Given the description of an element on the screen output the (x, y) to click on. 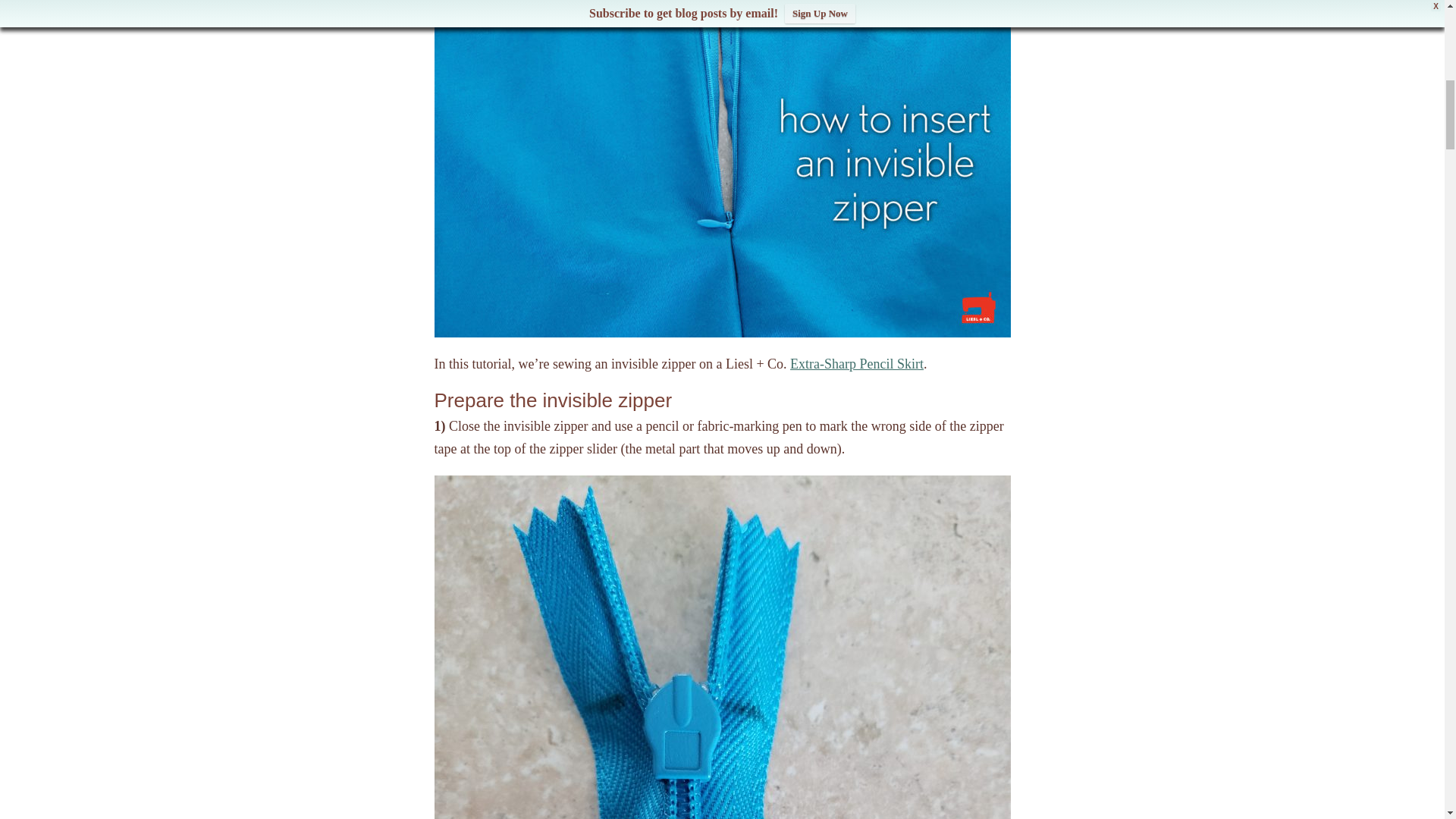
Extra-Sharp Pencil Skirt (856, 363)
